Given the description of an element on the screen output the (x, y) to click on. 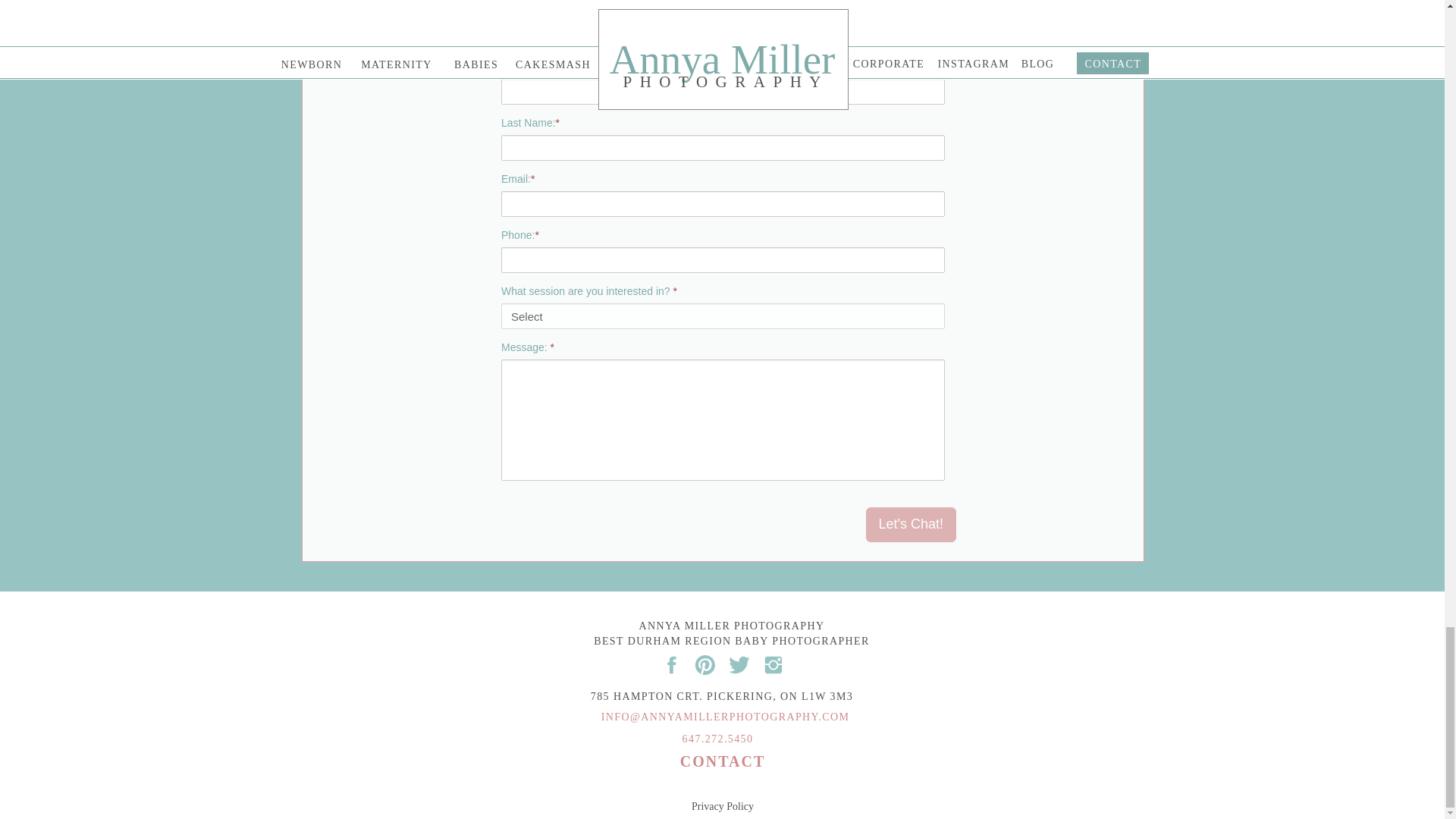
Privacy Policy (722, 805)
CONTACT (722, 766)
647.272.5450 (717, 739)
785 HAMPTON CRT. PICKERING, ON L1W 3M3 (722, 697)
